Given the description of an element on the screen output the (x, y) to click on. 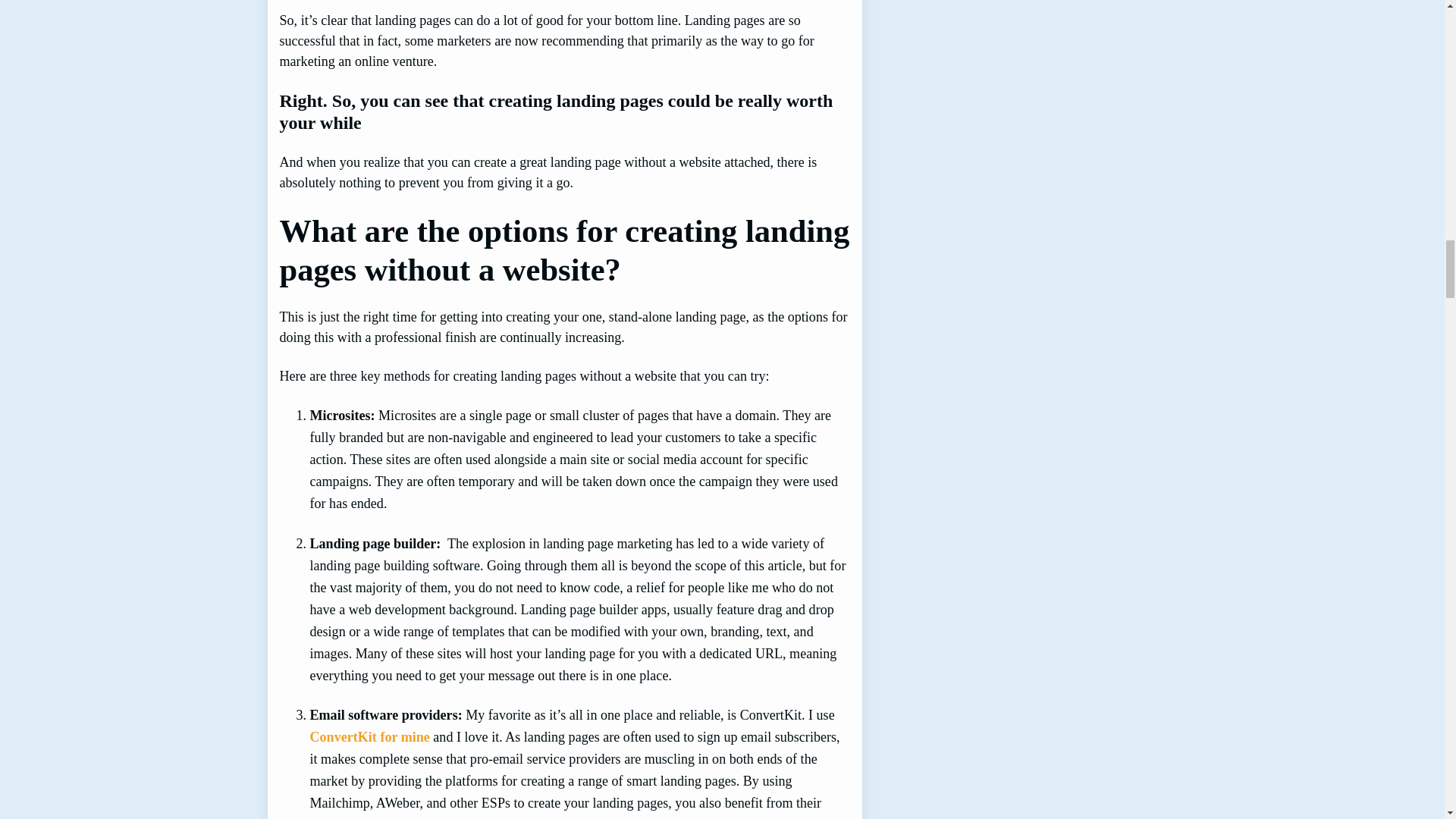
ConvertKit for mine (368, 736)
